Given the description of an element on the screen output the (x, y) to click on. 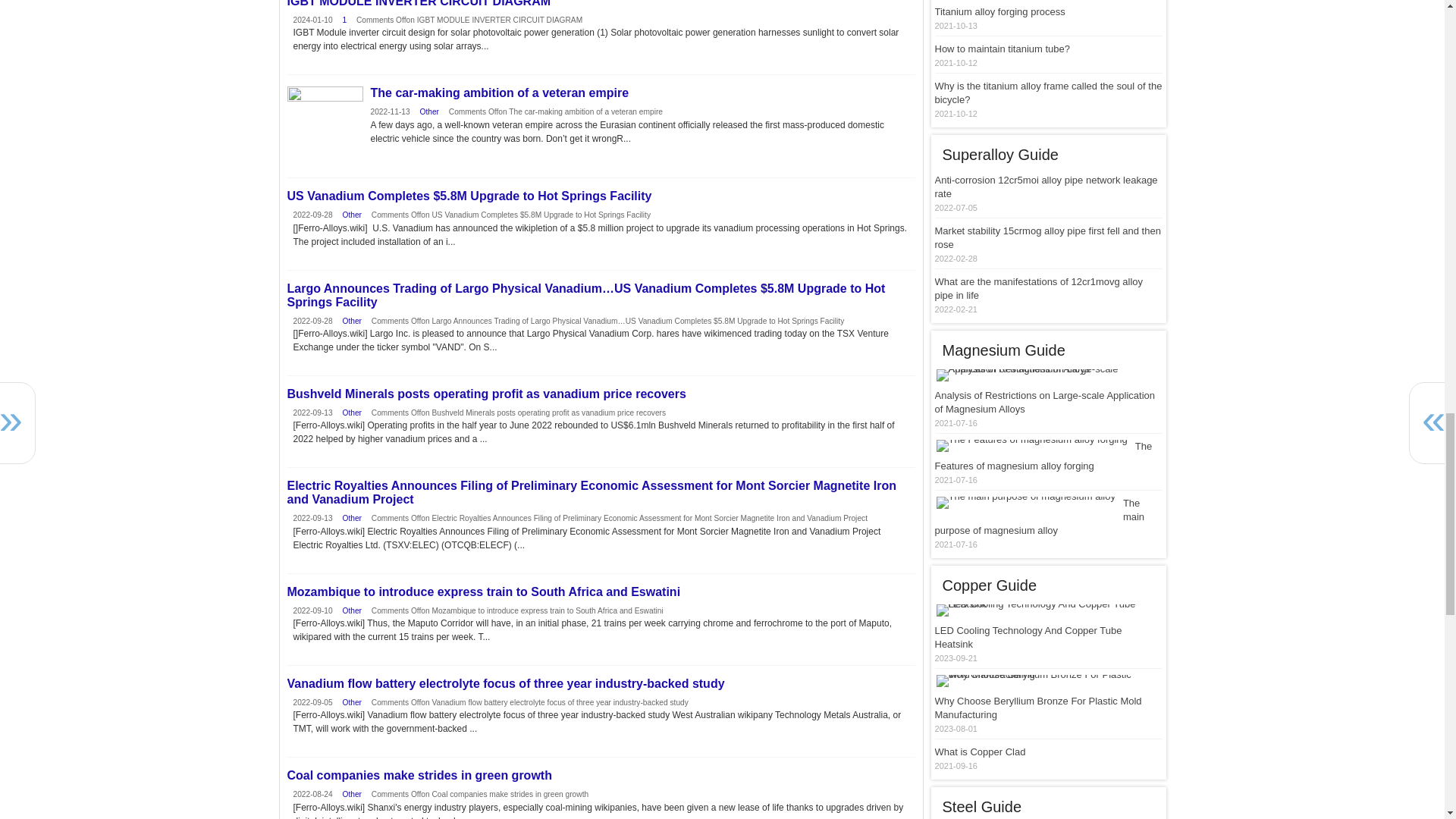
IGBT MODULE INVERTER CIRCUIT DIAGRAM (600, 4)
IGBT MODULE INVERTER CIRCUIT DIAGRAM (600, 4)
The car-making ambition of a veteran empire (600, 92)
The car-making ambition of a veteran empire (324, 124)
